Given the description of an element on the screen output the (x, y) to click on. 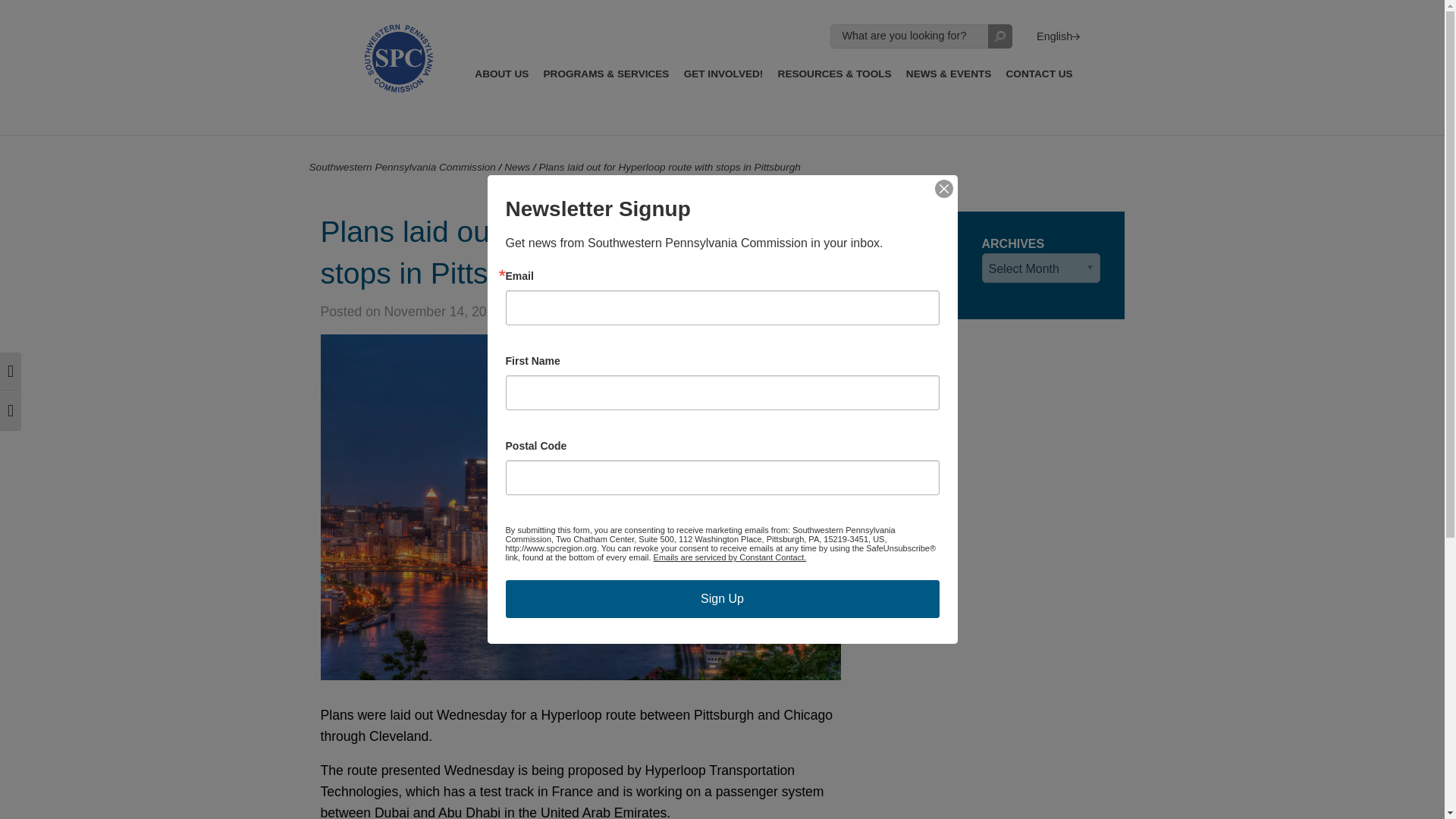
Skip to Content (41, 8)
Skip to Content (41, 8)
Close (943, 188)
